Given the description of an element on the screen output the (x, y) to click on. 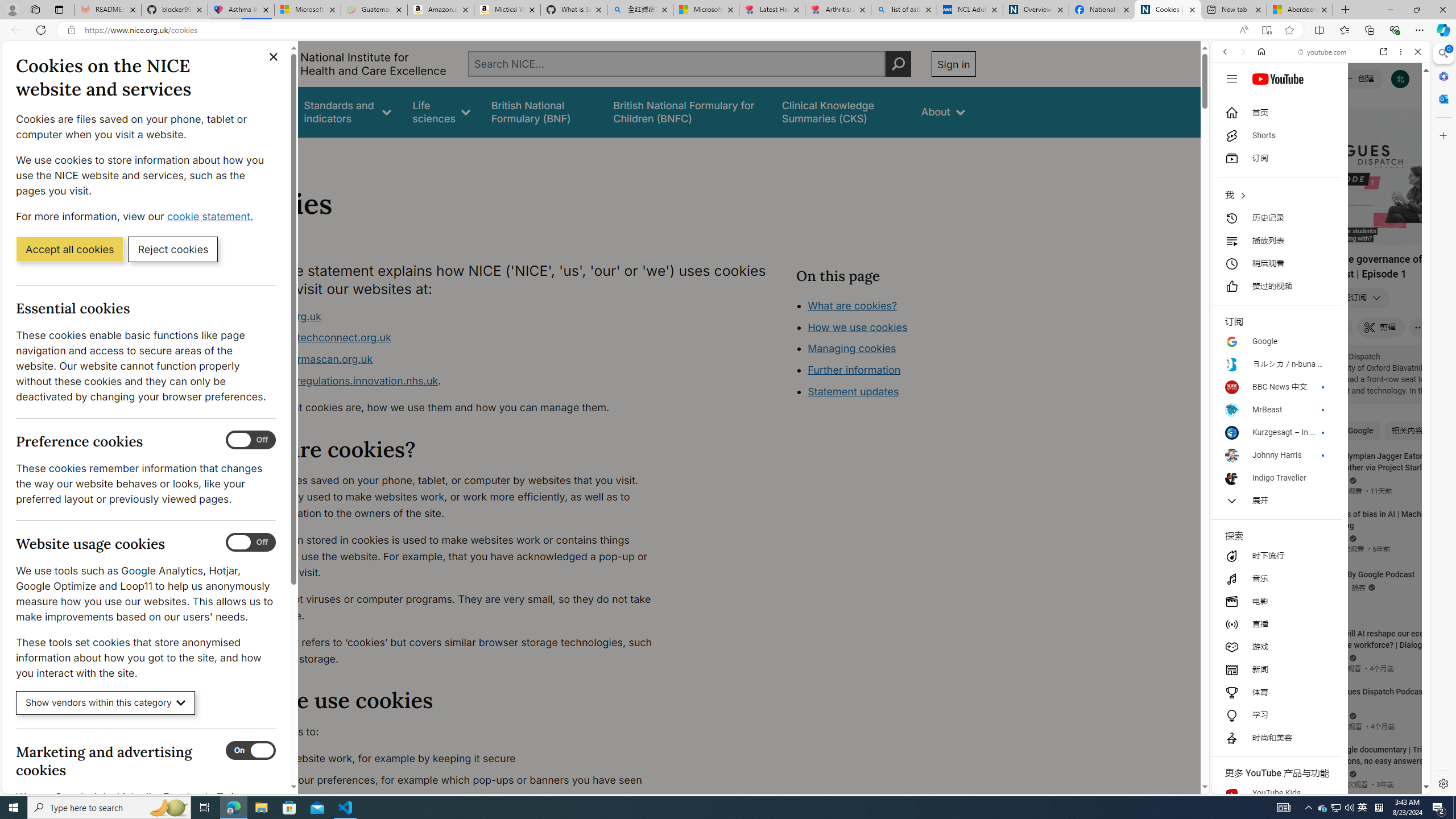
Google (1320, 281)
www.digitalregulations.innovation.nhs.uk (338, 380)
Show More Music (1390, 310)
